Given the description of an element on the screen output the (x, y) to click on. 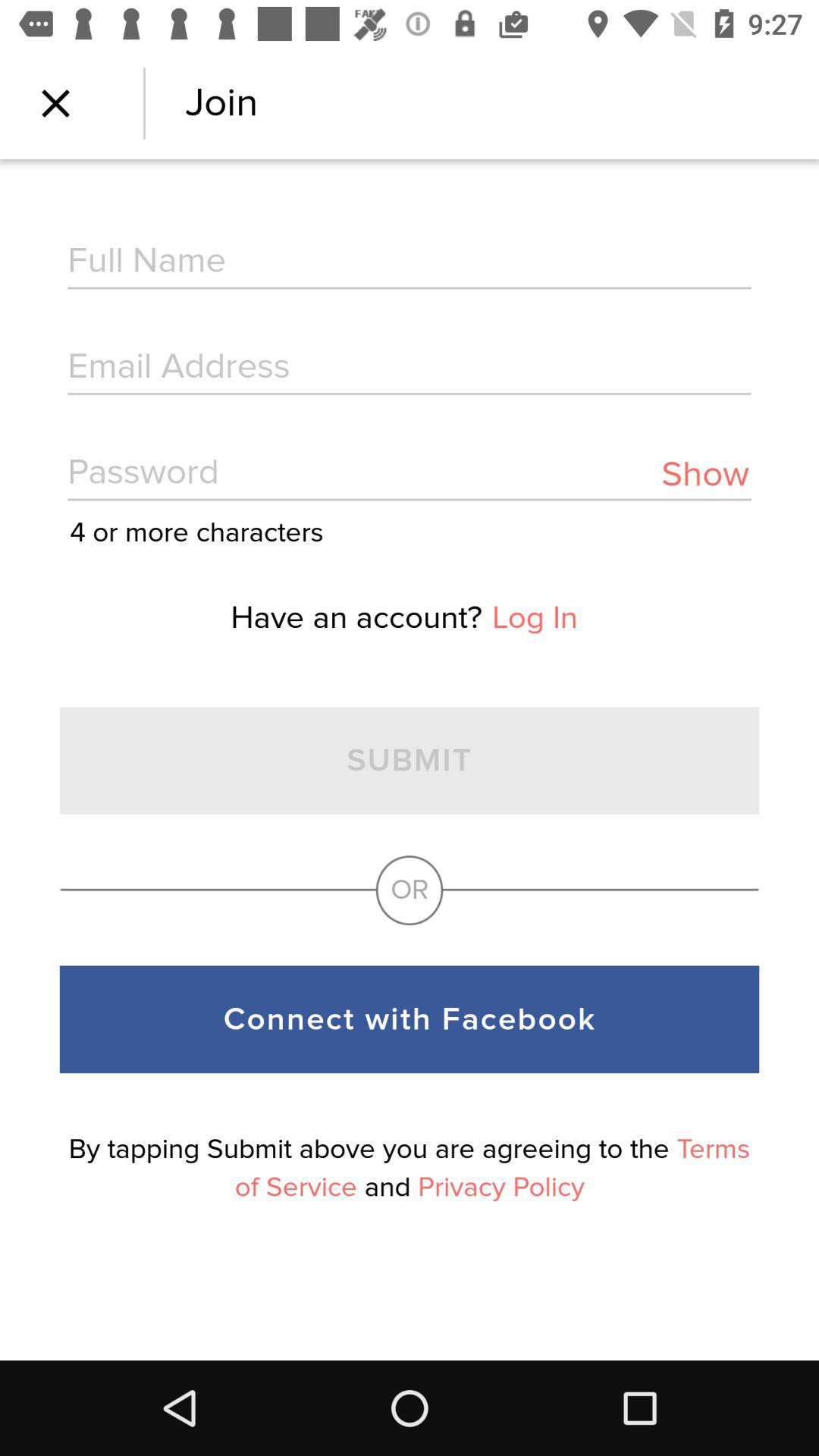
password (409, 474)
